Given the description of an element on the screen output the (x, y) to click on. 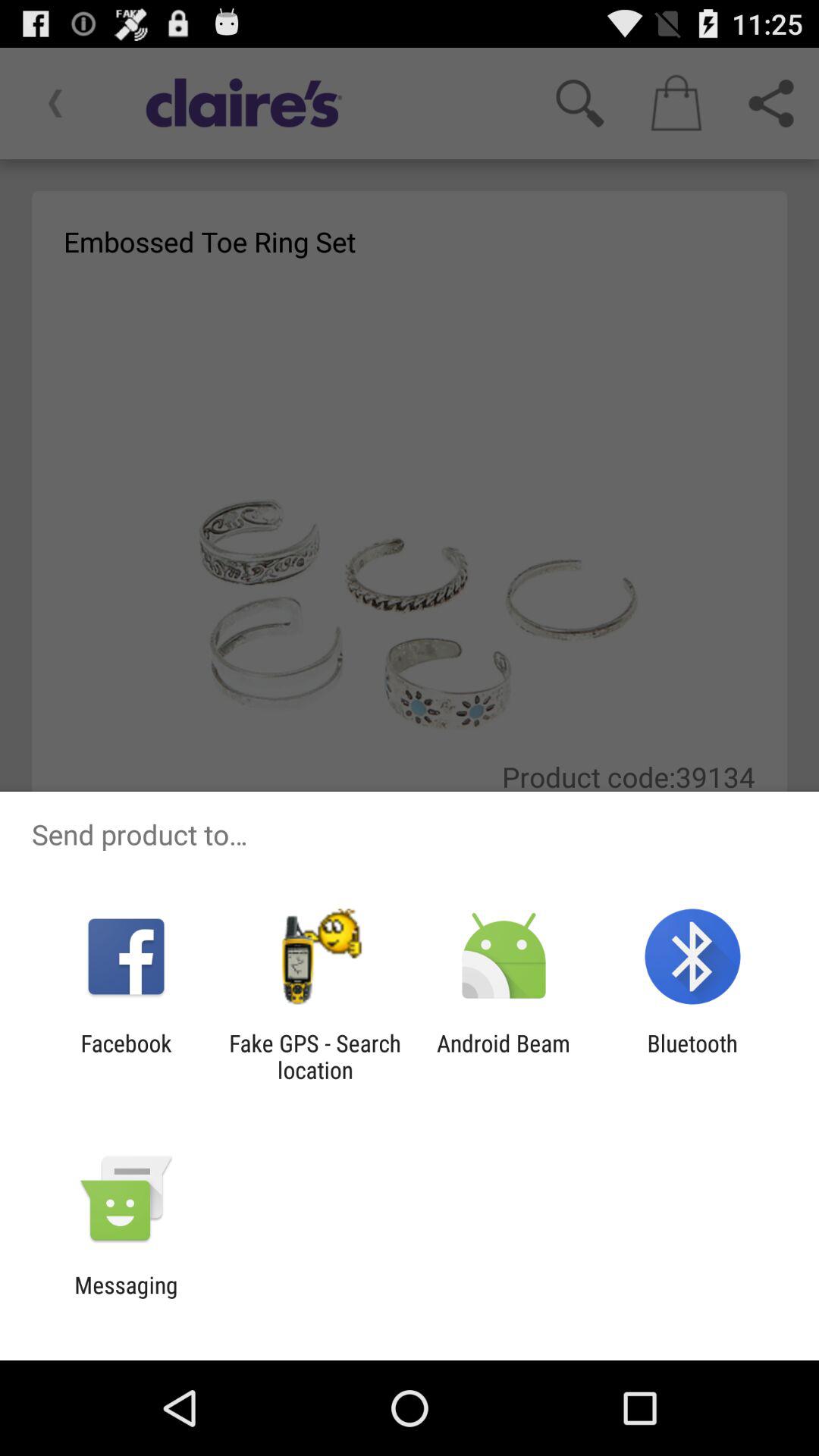
turn on the item to the right of facebook app (314, 1056)
